Given the description of an element on the screen output the (x, y) to click on. 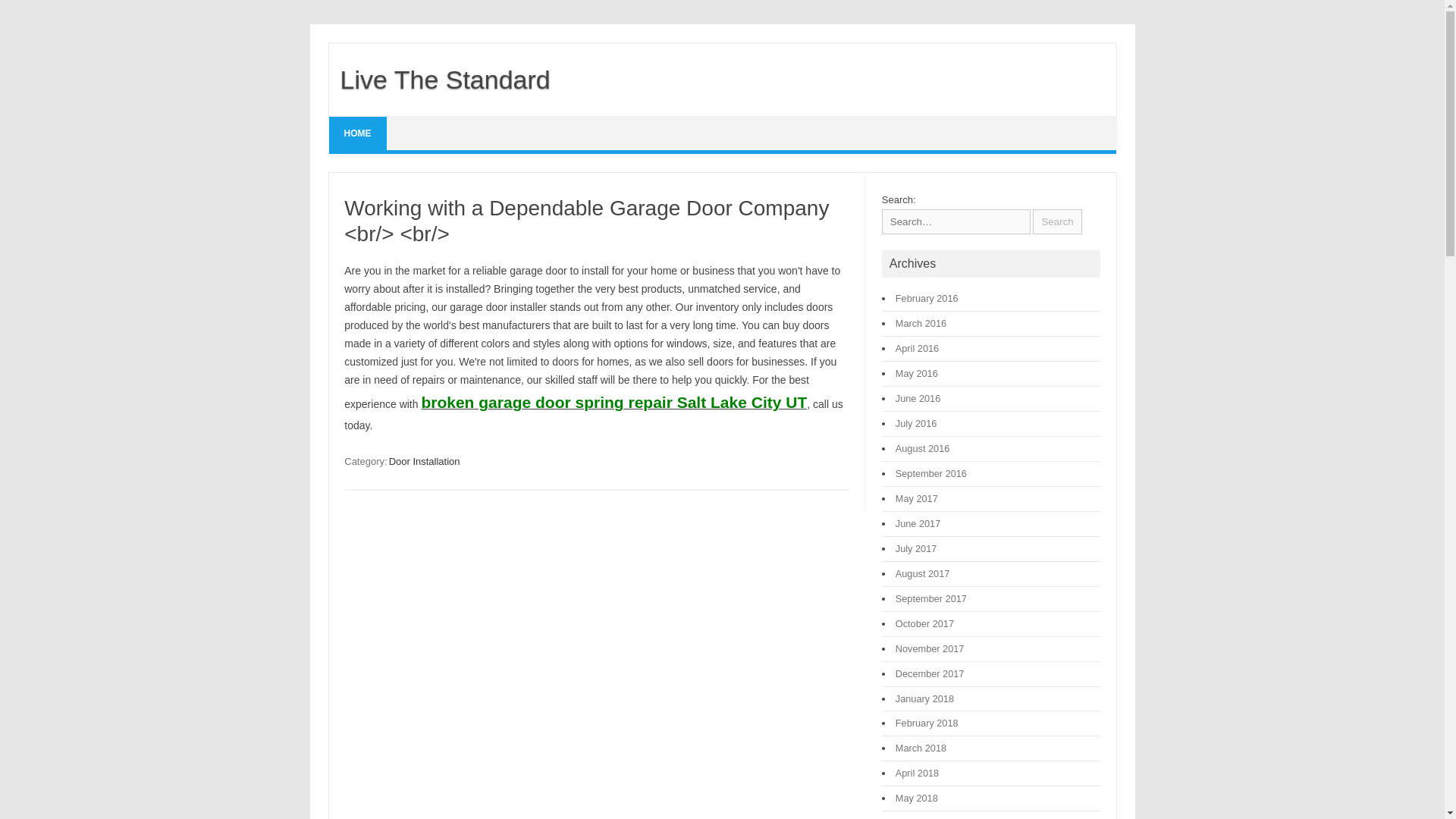
September 2016 (930, 473)
July 2017 (916, 548)
August 2017 (922, 573)
September 2017 (930, 598)
June 2016 (917, 398)
August 2016 (922, 448)
View all posts in Door Installation (424, 461)
June 2017 (917, 523)
Door Installation (424, 461)
broken garage door spring repair Salt Lake City UT (613, 404)
